Given the description of an element on the screen output the (x, y) to click on. 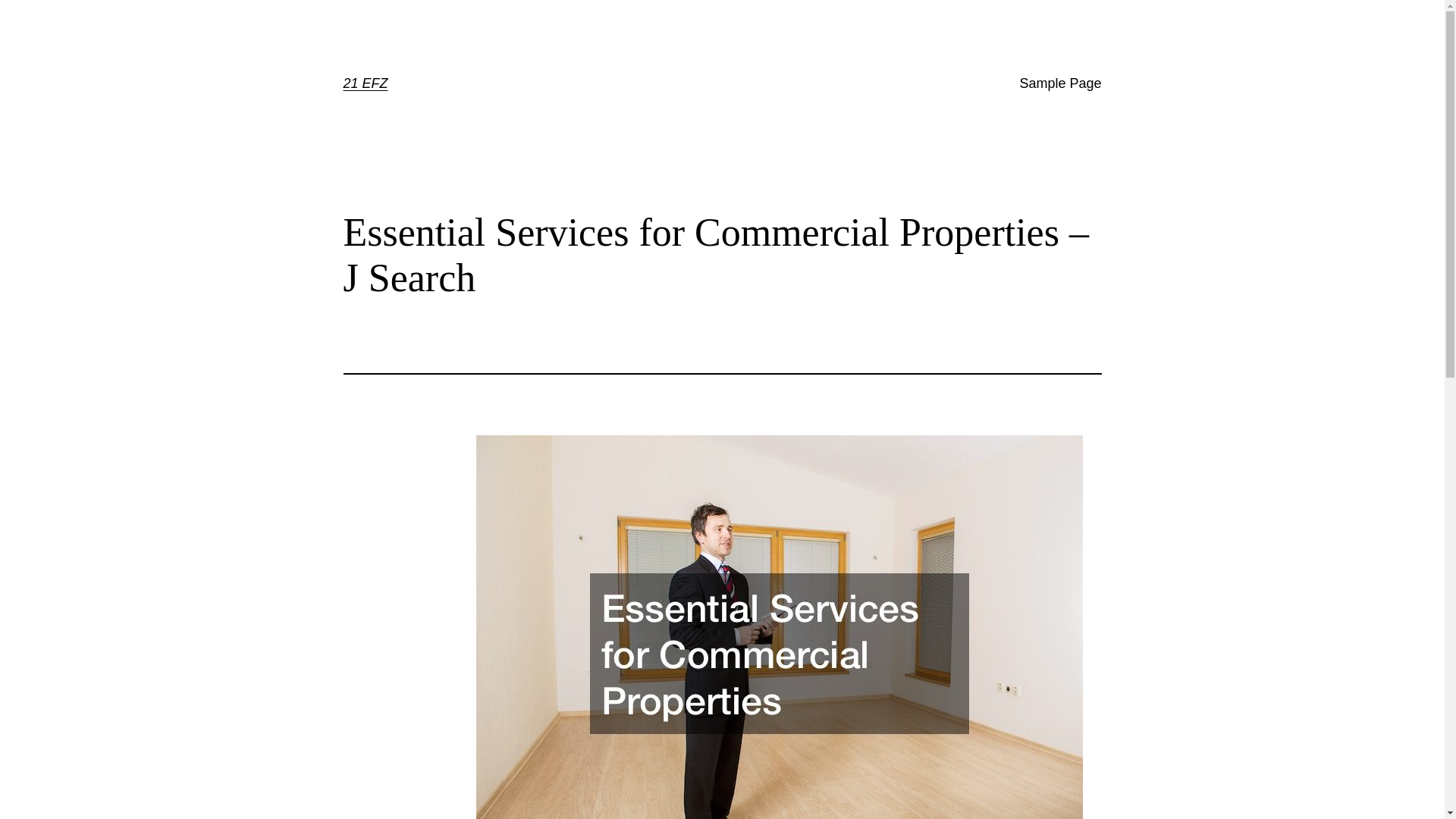
21 EFZ Element type: text (364, 83)
Sample Page Element type: text (1060, 83)
